Given the description of an element on the screen output the (x, y) to click on. 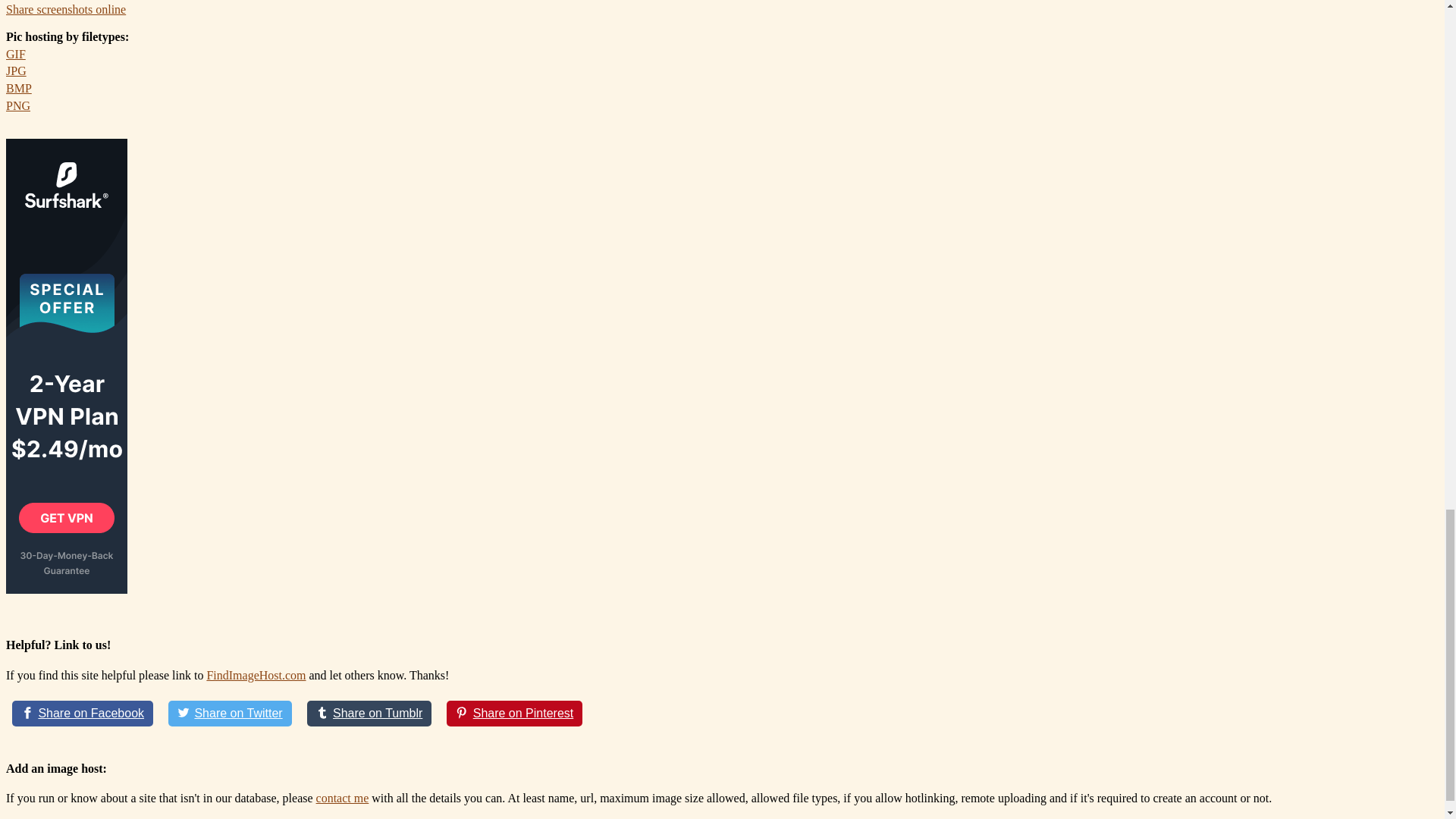
Share screenshots online (65, 9)
JPG (15, 70)
BMP (18, 88)
GIF (15, 53)
Share on Pinterest (514, 713)
contact me (342, 797)
Share on Tumblr (369, 713)
FindImageHost.com (255, 675)
PNG (17, 105)
Share on Facebook (81, 713)
